Given the description of an element on the screen output the (x, y) to click on. 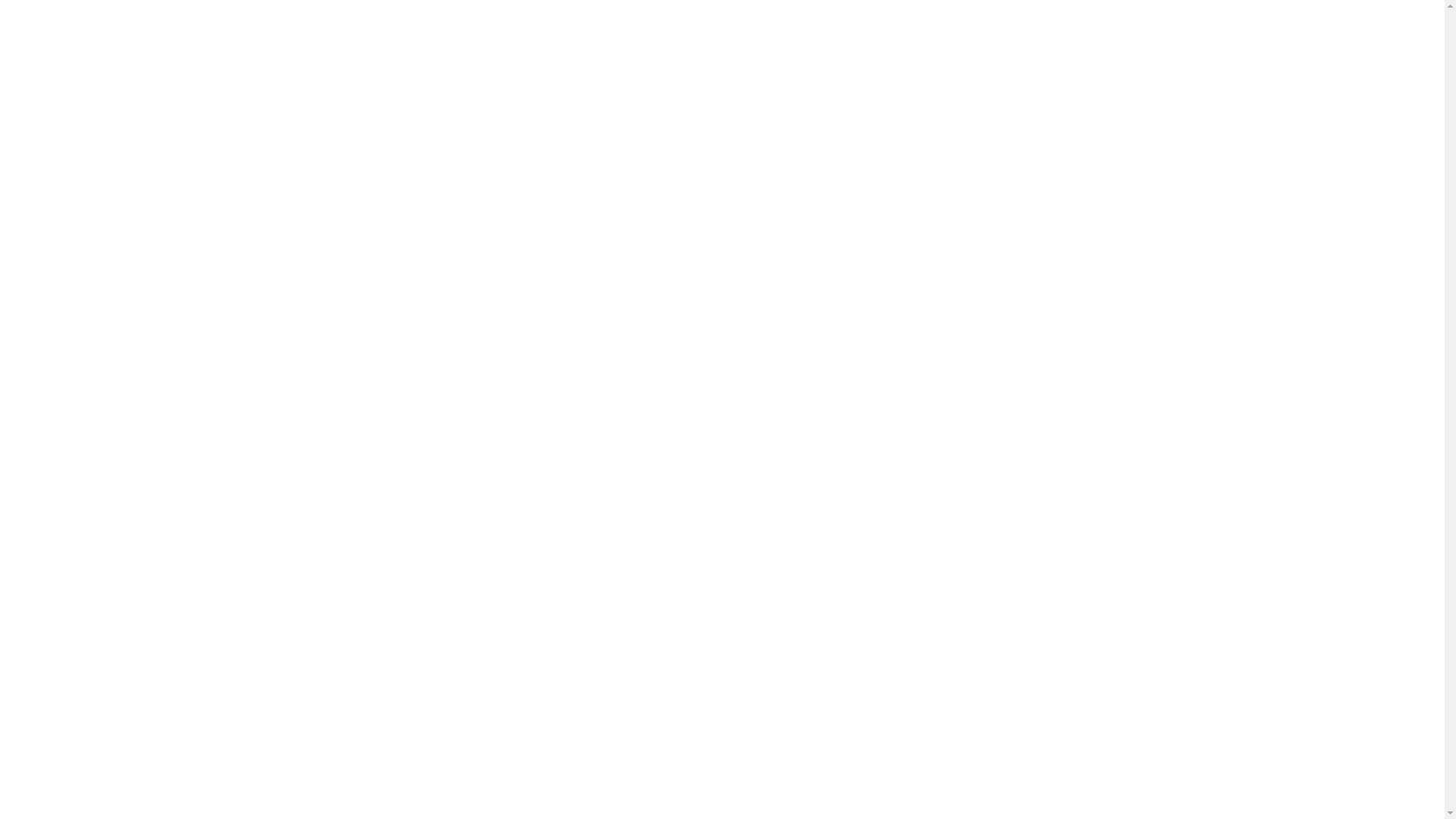
Projectontwikkeling Element type: text (959, 31)
Contacteer ons Element type: text (1136, 31)
Willemen Element type: text (881, 539)
Architecten Element type: text (850, 31)
facebook Element type: text (1191, 793)
Infrabo nv Element type: text (812, 539)
Onze visie Element type: text (1057, 31)
Particulieren Element type: text (758, 31)
Fish.Digital Element type: text (451, 794)
